Given the description of an element on the screen output the (x, y) to click on. 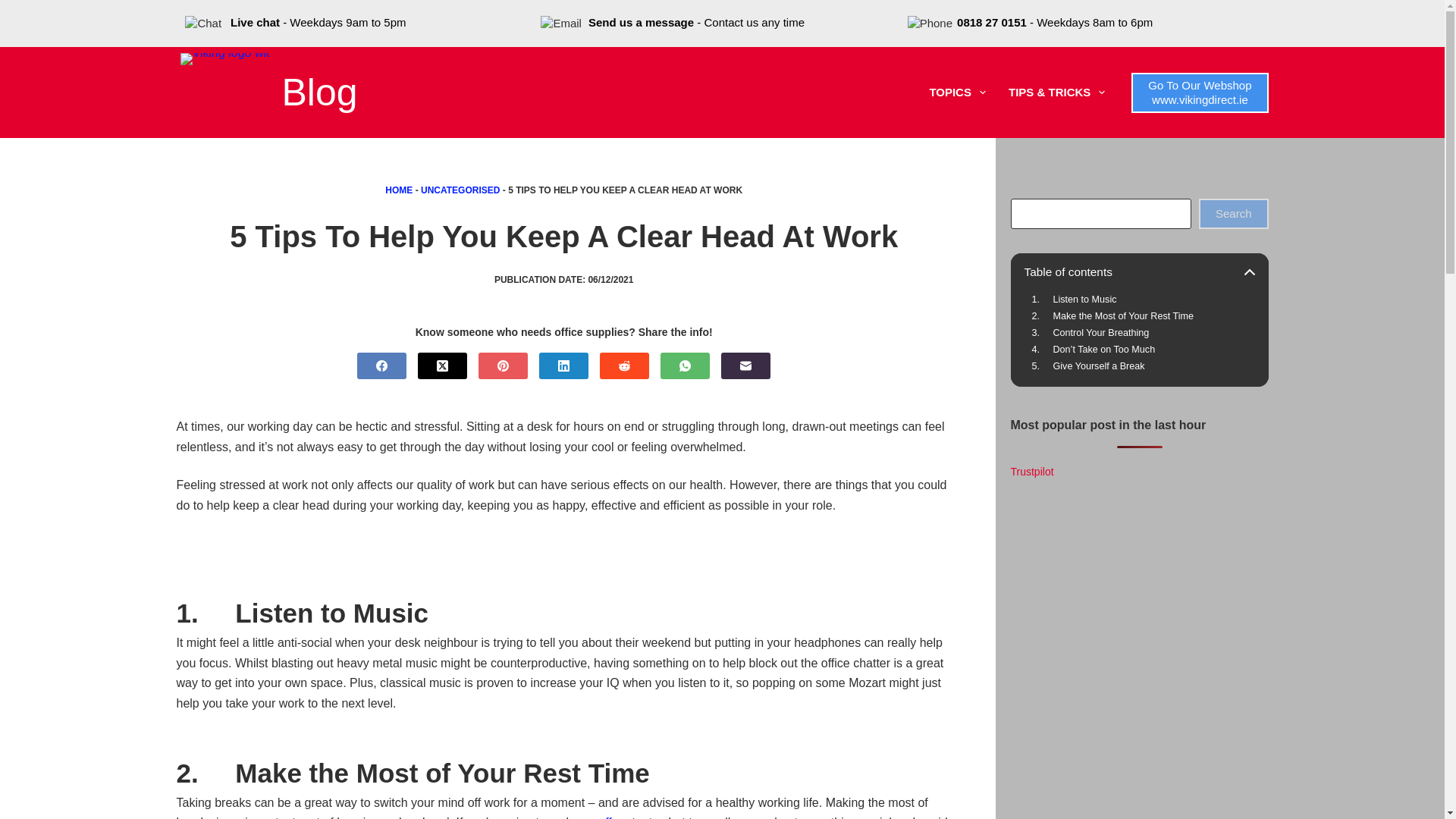
Send us a message - Contact us any time (696, 21)
0818 27 0151 - Weekdays 8am to 6pm (1054, 21)
Skip to content (15, 7)
Live chat - Weekdays 9am to 5pm (318, 21)
Blog (318, 92)
5 Tips to Help You Keep a Clear Head at Work (563, 236)
